Given the description of an element on the screen output the (x, y) to click on. 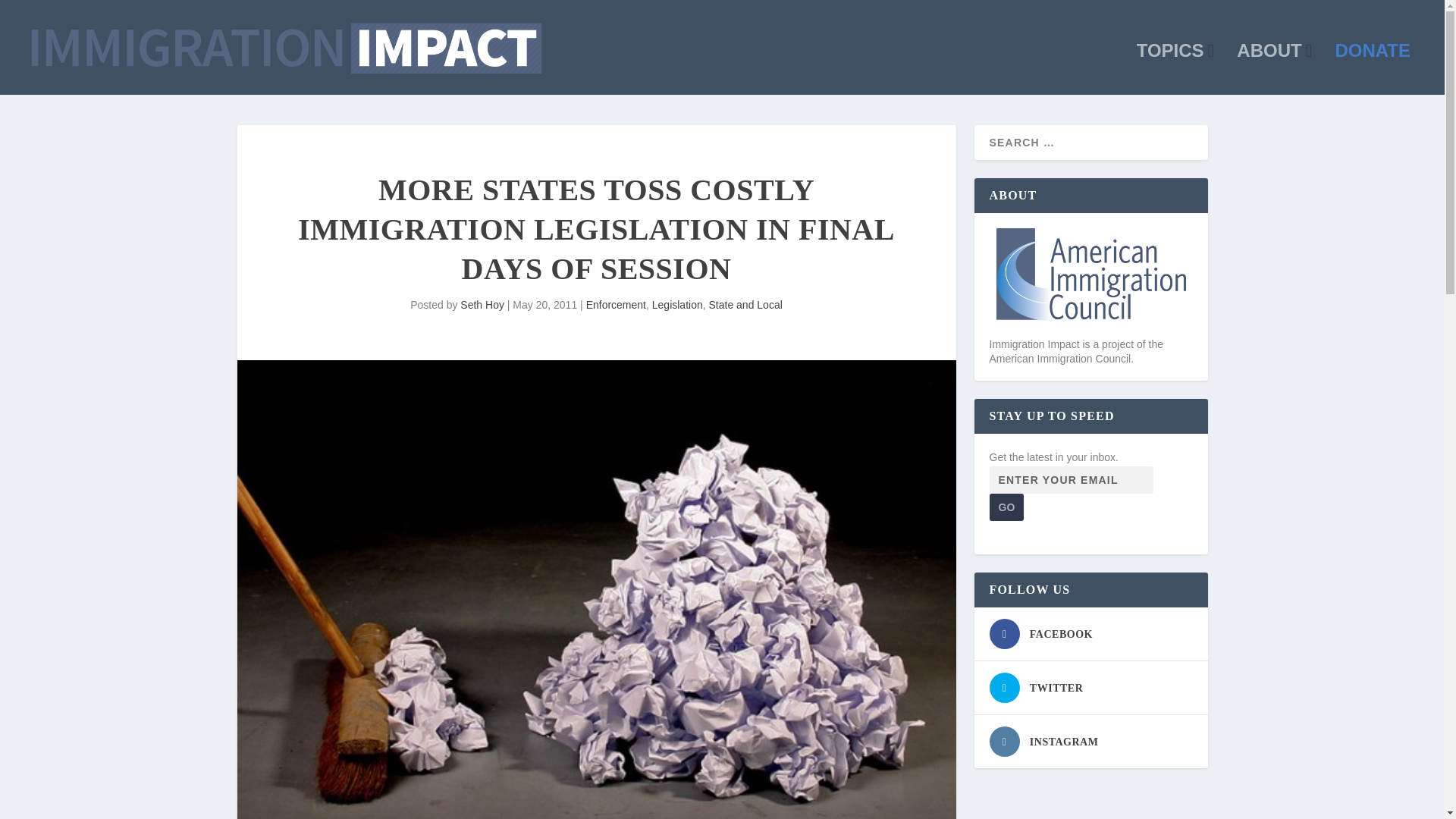
DONATE (1372, 69)
Enforcement (616, 304)
GO (1005, 506)
Legislation (677, 304)
TOPICS (1175, 69)
Posts by Seth Hoy (481, 304)
ABOUT (1273, 69)
State and Local (744, 304)
Seth Hoy (481, 304)
